Given the description of an element on the screen output the (x, y) to click on. 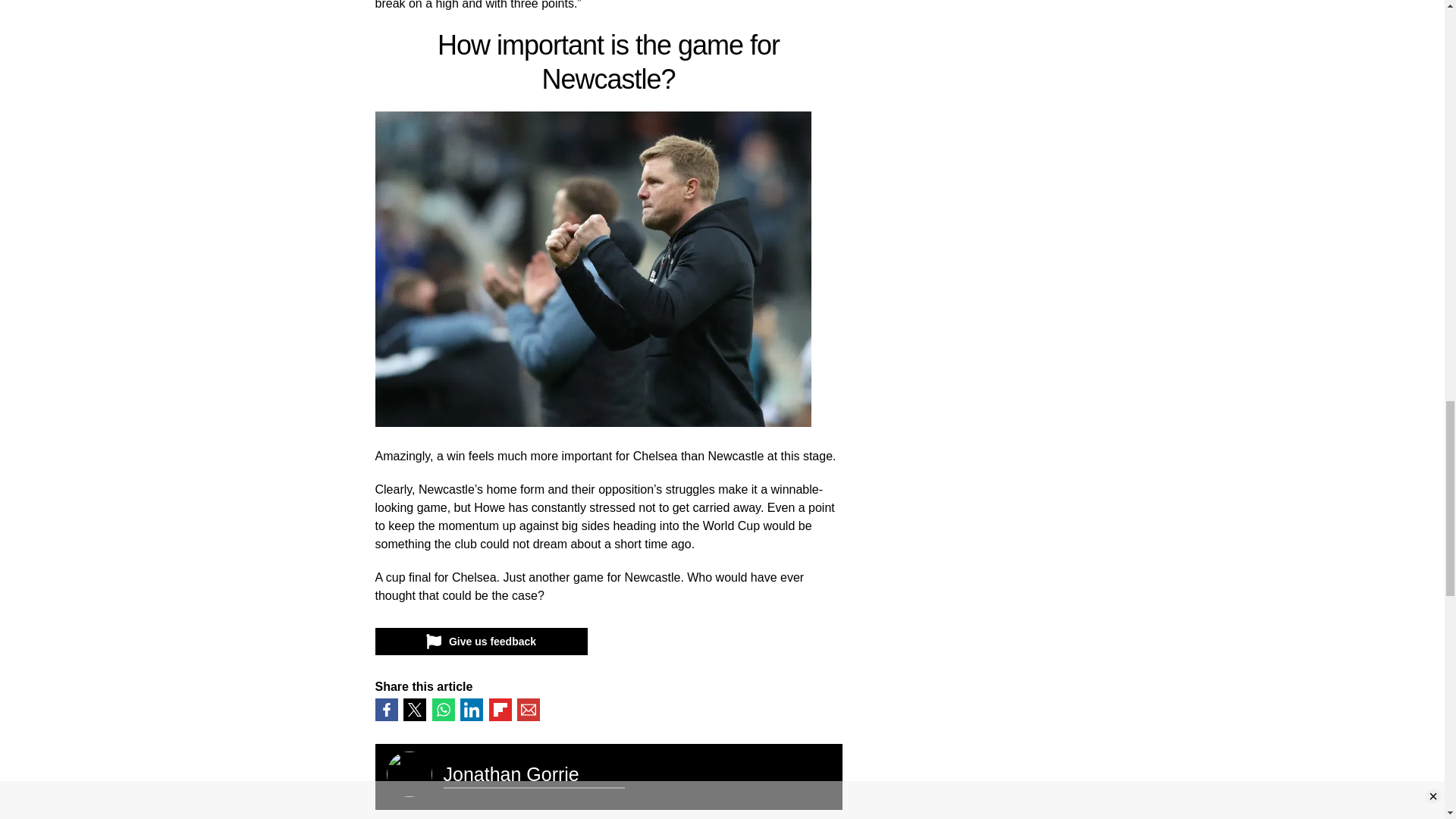
share on Flipboard (499, 708)
share on Email (528, 708)
share on Twitter (414, 708)
share on Facebook (385, 708)
share on LinkedIn (471, 708)
share on WhatsApp (443, 708)
Give us feedback (480, 641)
